Given the description of an element on the screen output the (x, y) to click on. 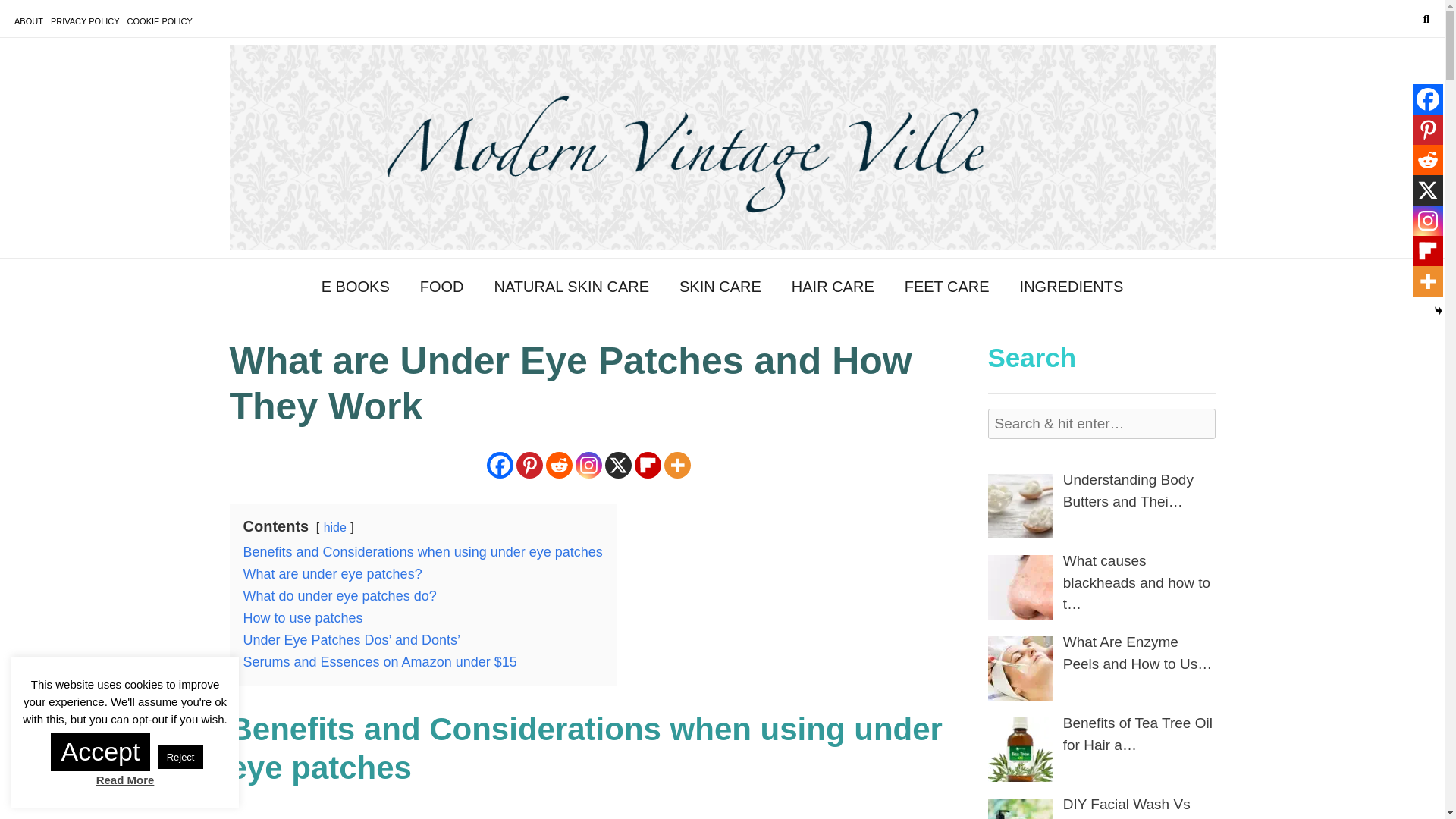
COOKIE POLICY (159, 21)
About me and my blog (28, 21)
Instagram (588, 465)
HAIR CARE (832, 286)
Flipboard (647, 465)
FOOD (441, 286)
Facebook (499, 465)
Pinterest (1427, 129)
FEET CARE (946, 286)
NATURAL SKIN CARE (571, 286)
ABOUT (28, 21)
PRIVACY POLICY (85, 21)
More (676, 465)
E BOOKS (354, 286)
